Given the description of an element on the screen output the (x, y) to click on. 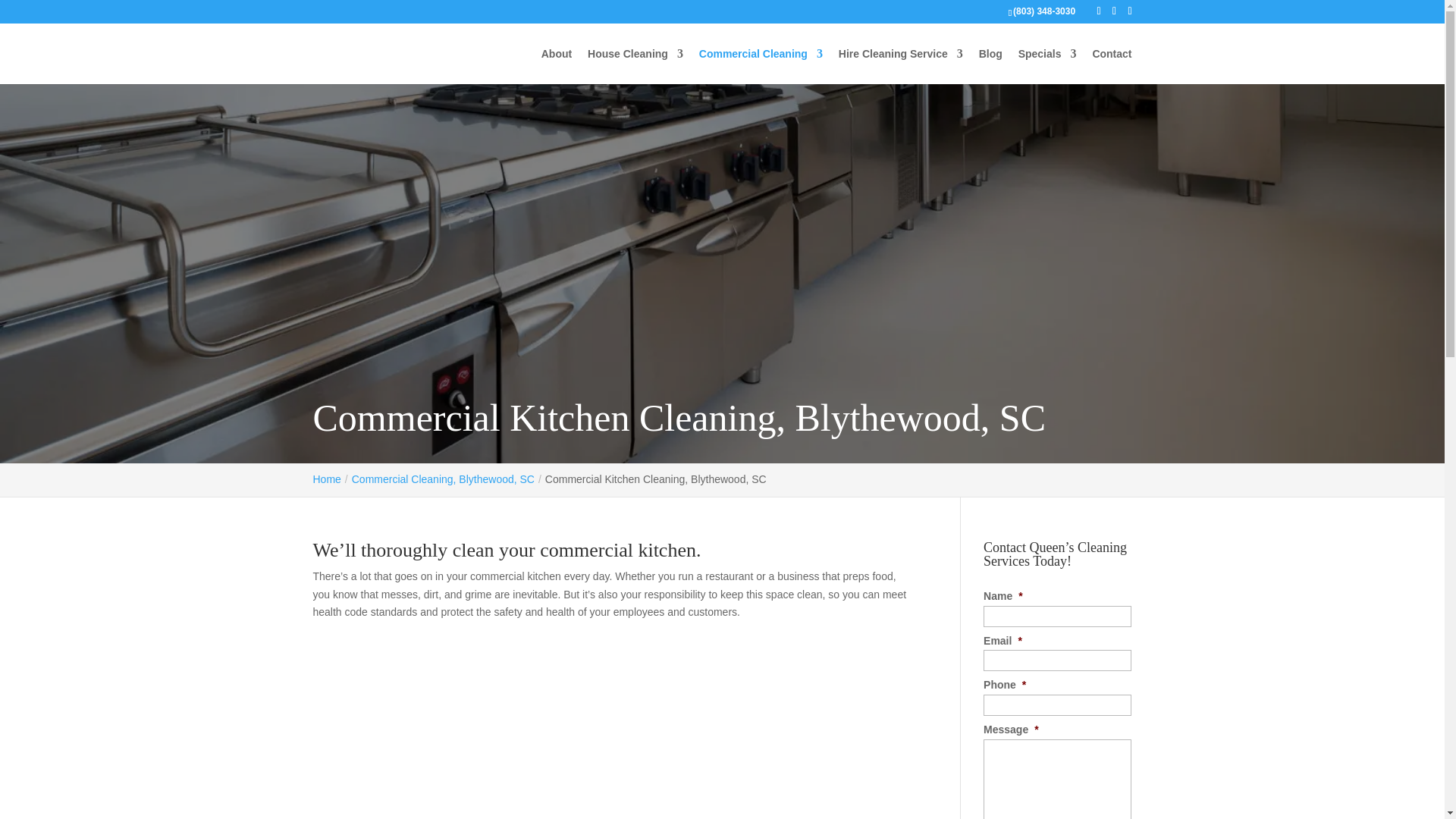
Commercial Cleaning, Blythewood, SC (443, 479)
Go to Queen's Cleaning Services. (326, 479)
Commercial Cleaning (760, 66)
Contact (1111, 66)
Home (326, 479)
Go to Commercial Cleaning, Blythewood, SC. (443, 479)
House Cleaning (635, 66)
Hire Cleaning Service (900, 66)
Specials (1047, 66)
